Given the description of an element on the screen output the (x, y) to click on. 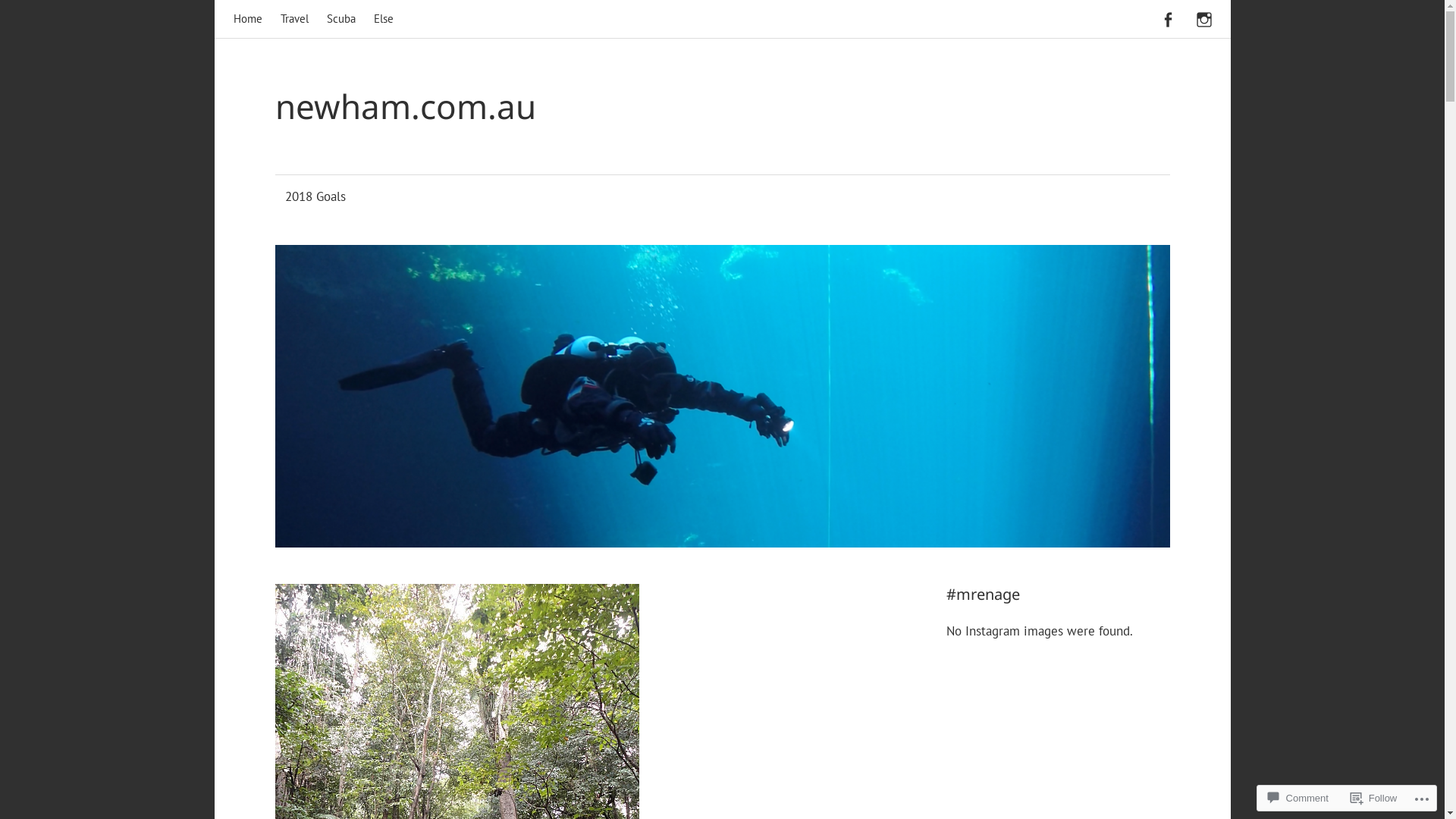
2018 Goals Element type: text (314, 196)
Scuba Element type: text (340, 18)
Travel Element type: text (294, 18)
Else Element type: text (383, 18)
newham.com.au Element type: text (404, 105)
Home Element type: text (247, 18)
Follow Element type: text (1373, 797)
Comment Element type: text (1297, 797)
